Given the description of an element on the screen output the (x, y) to click on. 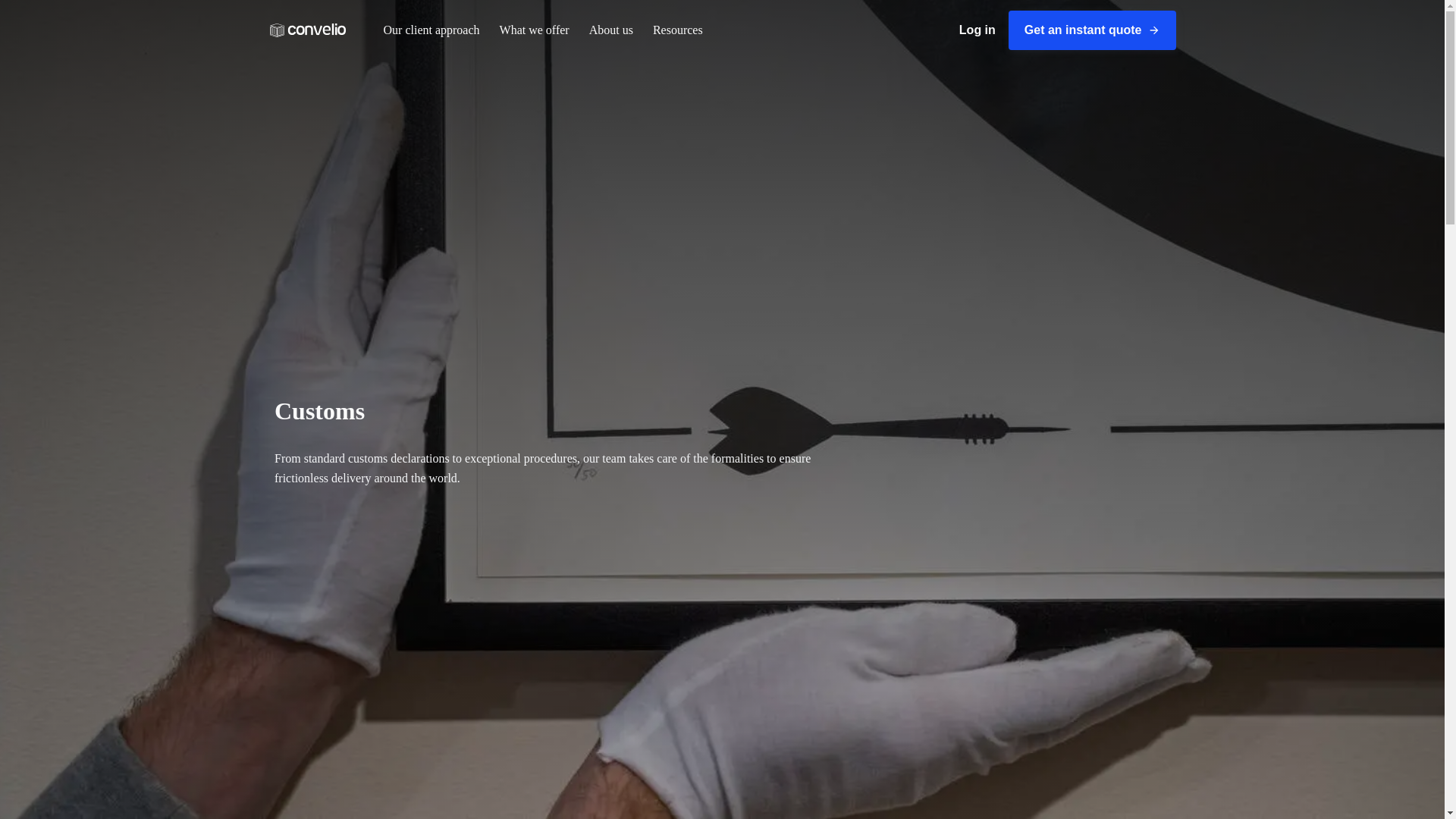
Log in (976, 29)
About us (610, 29)
Resources (677, 29)
What we offer (534, 29)
Our client approach (430, 29)
Get an instant quote (1092, 29)
